Given the description of an element on the screen output the (x, y) to click on. 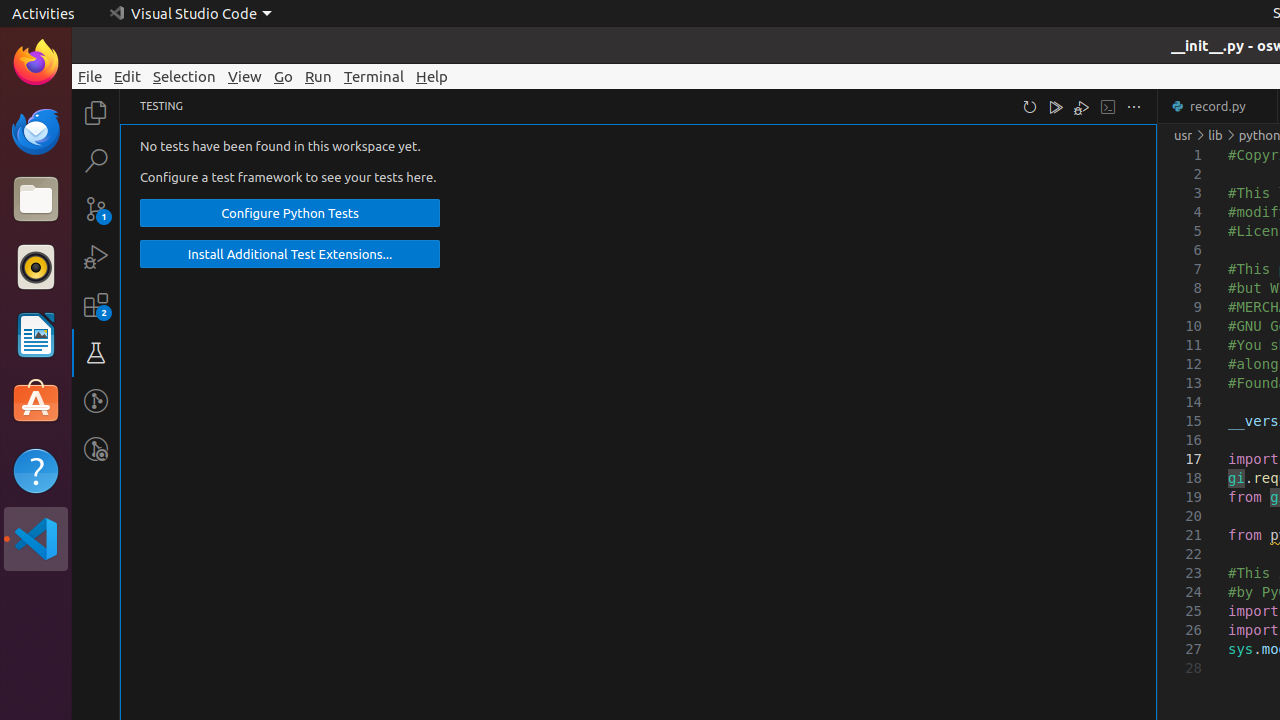
Explorer (Ctrl+Shift+E) Element type: page-tab (96, 113)
Refresh Tests (Ctrl+; Ctrl+R) Element type: push-button (1030, 106)
GitLens Inspect Element type: page-tab (96, 449)
Terminal Element type: push-button (374, 76)
